Given the description of an element on the screen output the (x, y) to click on. 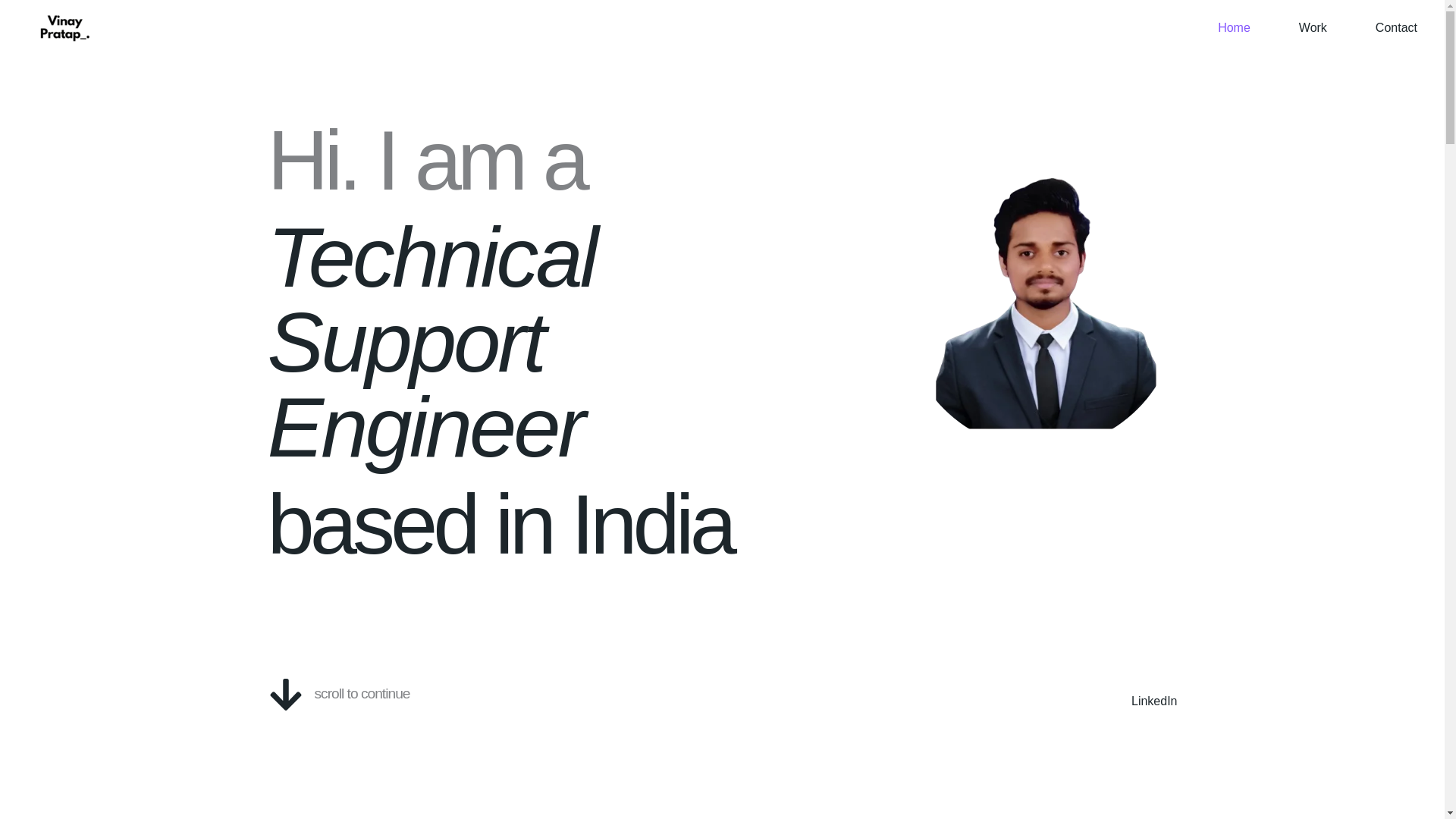
Home (1221, 27)
scroll to continue (361, 693)
LinkedIn (1154, 701)
Contact (1384, 27)
Work (1300, 27)
